Given the description of an element on the screen output the (x, y) to click on. 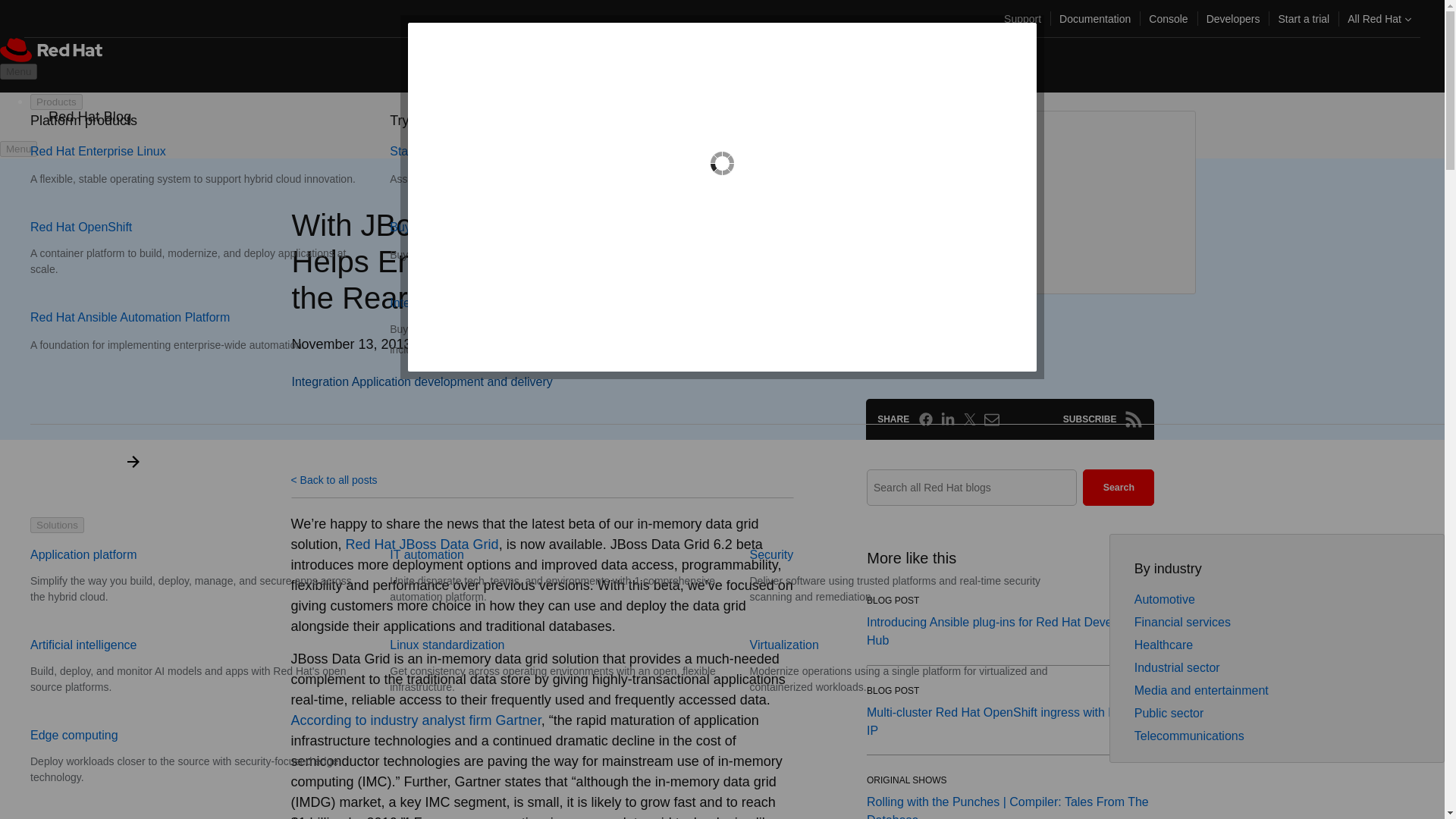
Start a trial (1303, 18)
All Red Hat (1379, 18)
Documentation (1094, 18)
Developers (1232, 18)
Support (1021, 18)
Subscribe (1132, 419)
